Given the description of an element on the screen output the (x, y) to click on. 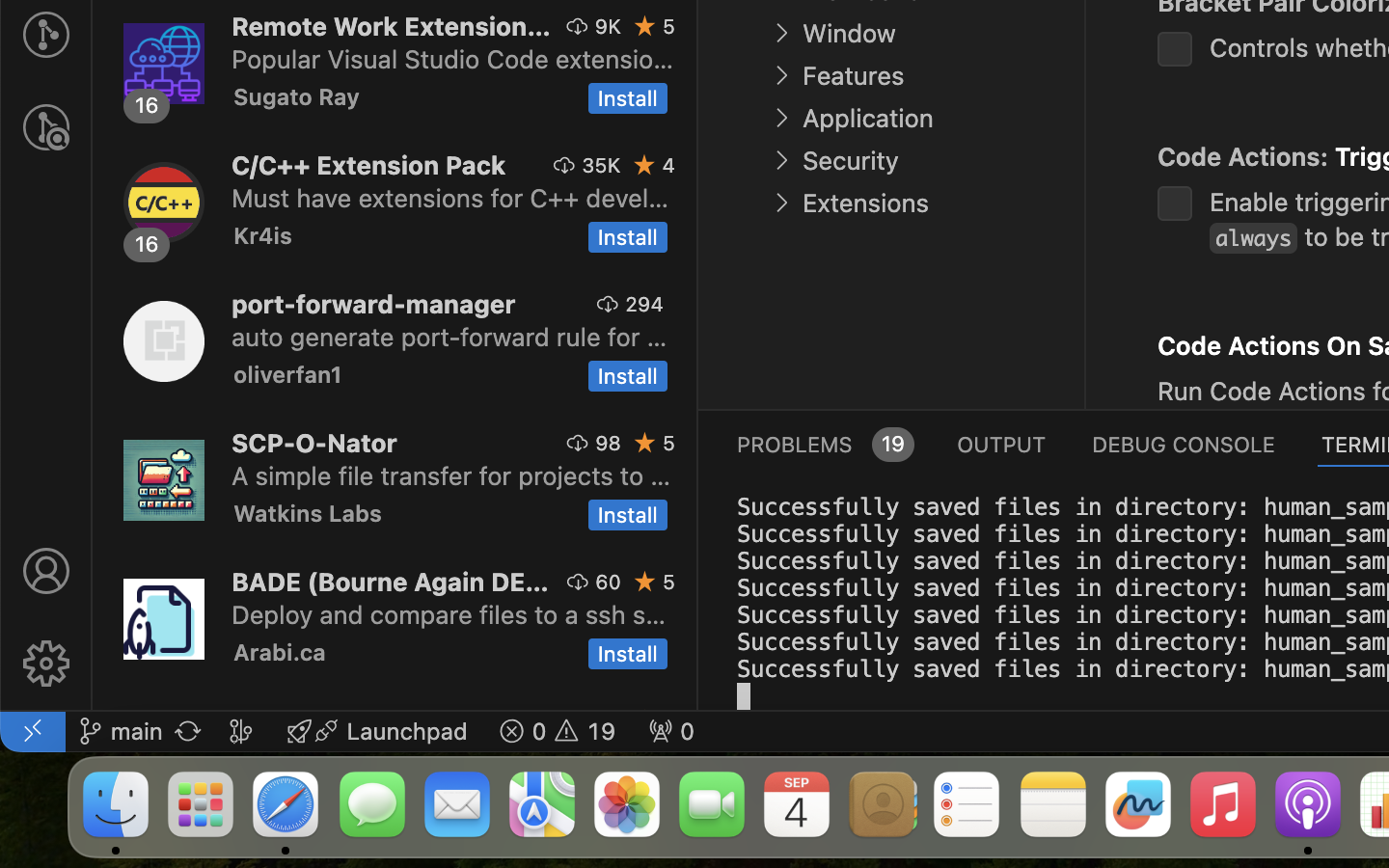
Features Element type: AXStaticText (853, 75)
9K Element type: AXStaticText (607, 25)
Sugato Ray Element type: AXStaticText (296, 95)
SCP-O-Nator Element type: AXStaticText (314, 442)
Window Element type: AXStaticText (849, 33)
